Given the description of an element on the screen output the (x, y) to click on. 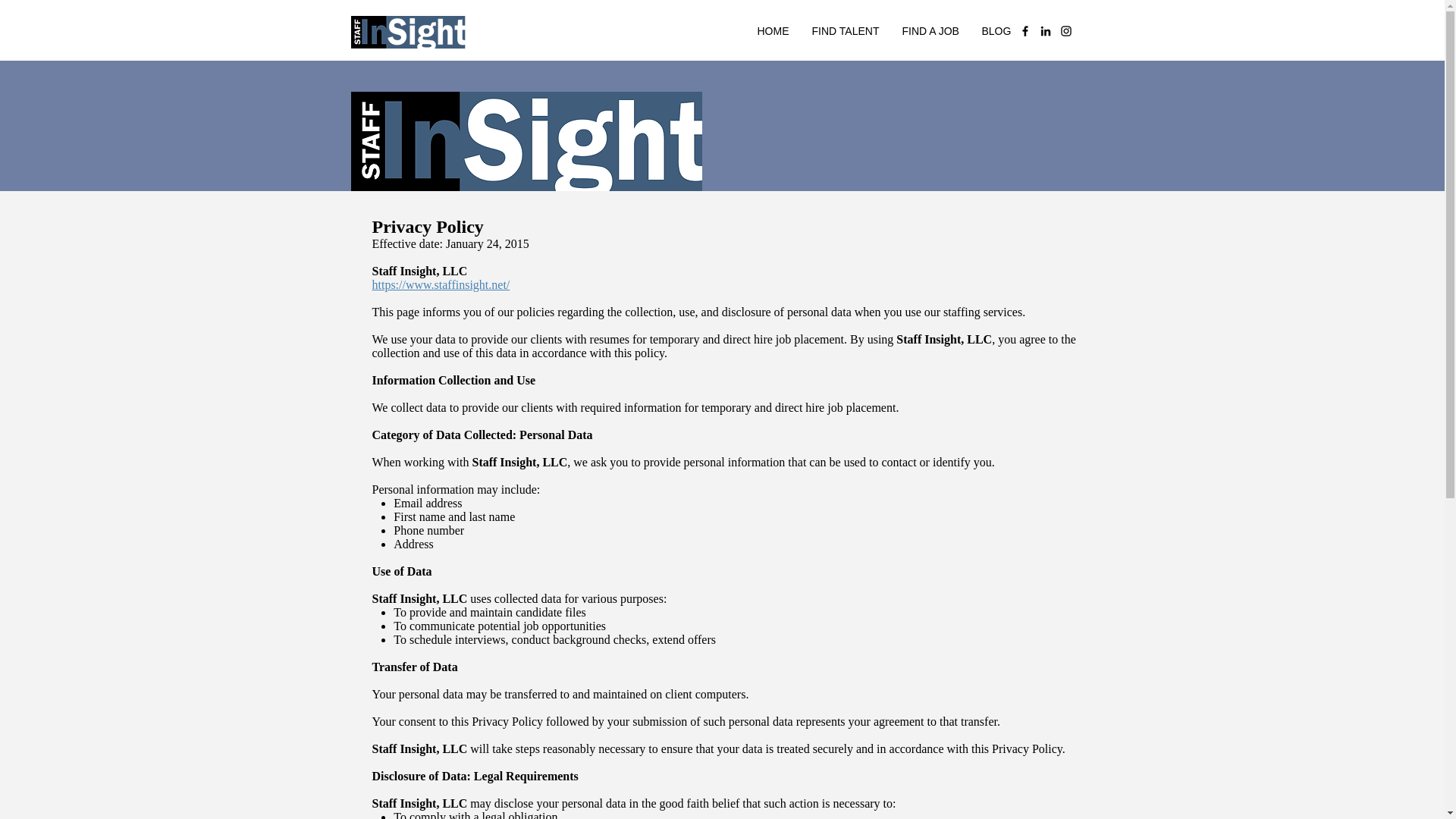
HOME (772, 30)
BLOG (997, 30)
FIND TALENT (845, 30)
FIND A JOB (929, 30)
